Given the description of an element on the screen output the (x, y) to click on. 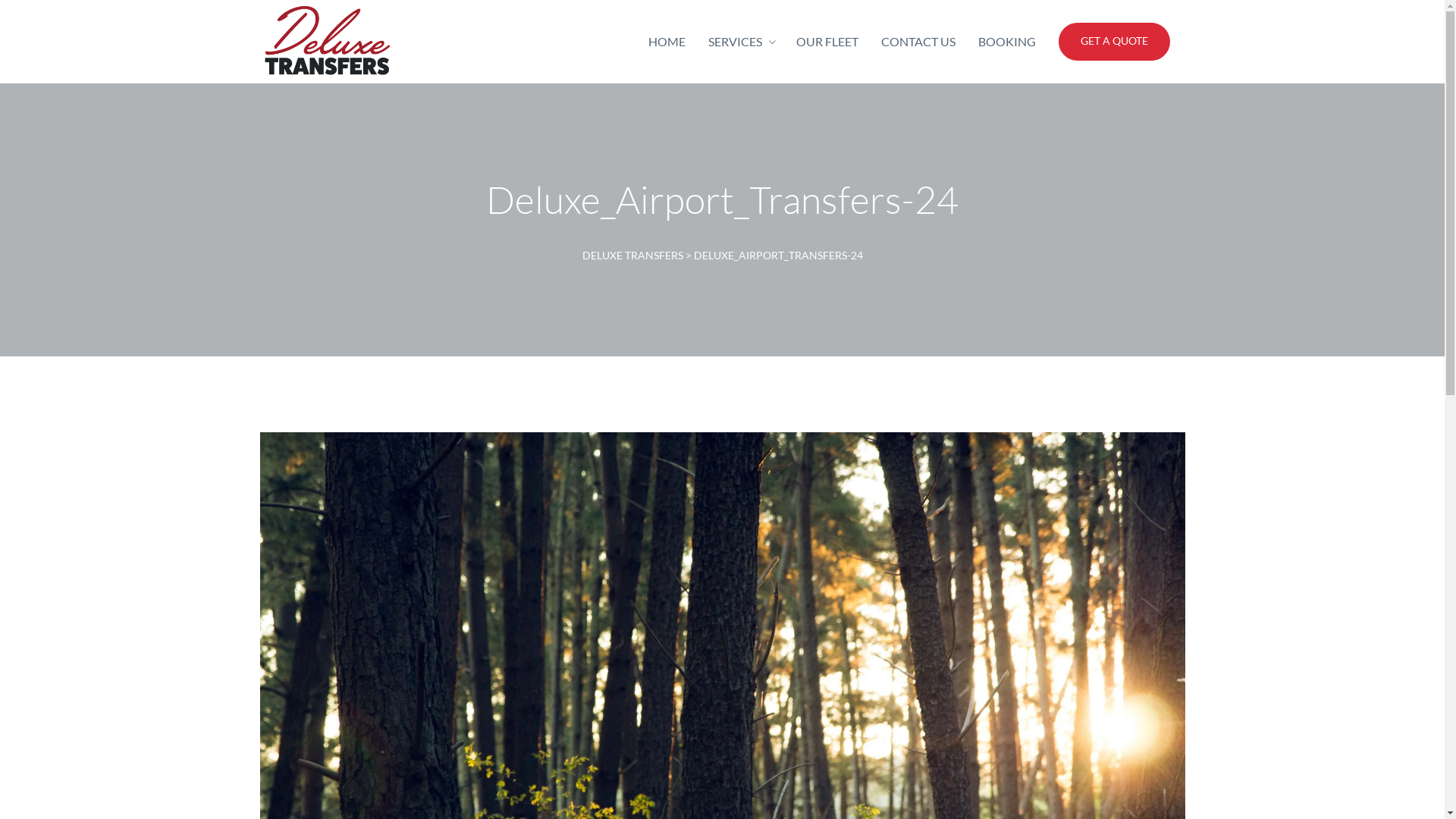
CONTACT US Element type: text (918, 41)
GET A QUOTE Element type: text (1114, 41)
OUR FLEET Element type: text (827, 41)
Deluxe Transfers Element type: hover (327, 41)
SERVICES Element type: text (735, 41)
HOME Element type: text (665, 41)
DELUXE TRANSFERS Element type: text (632, 254)
BOOKING Element type: text (1006, 41)
